Given the description of an element on the screen output the (x, y) to click on. 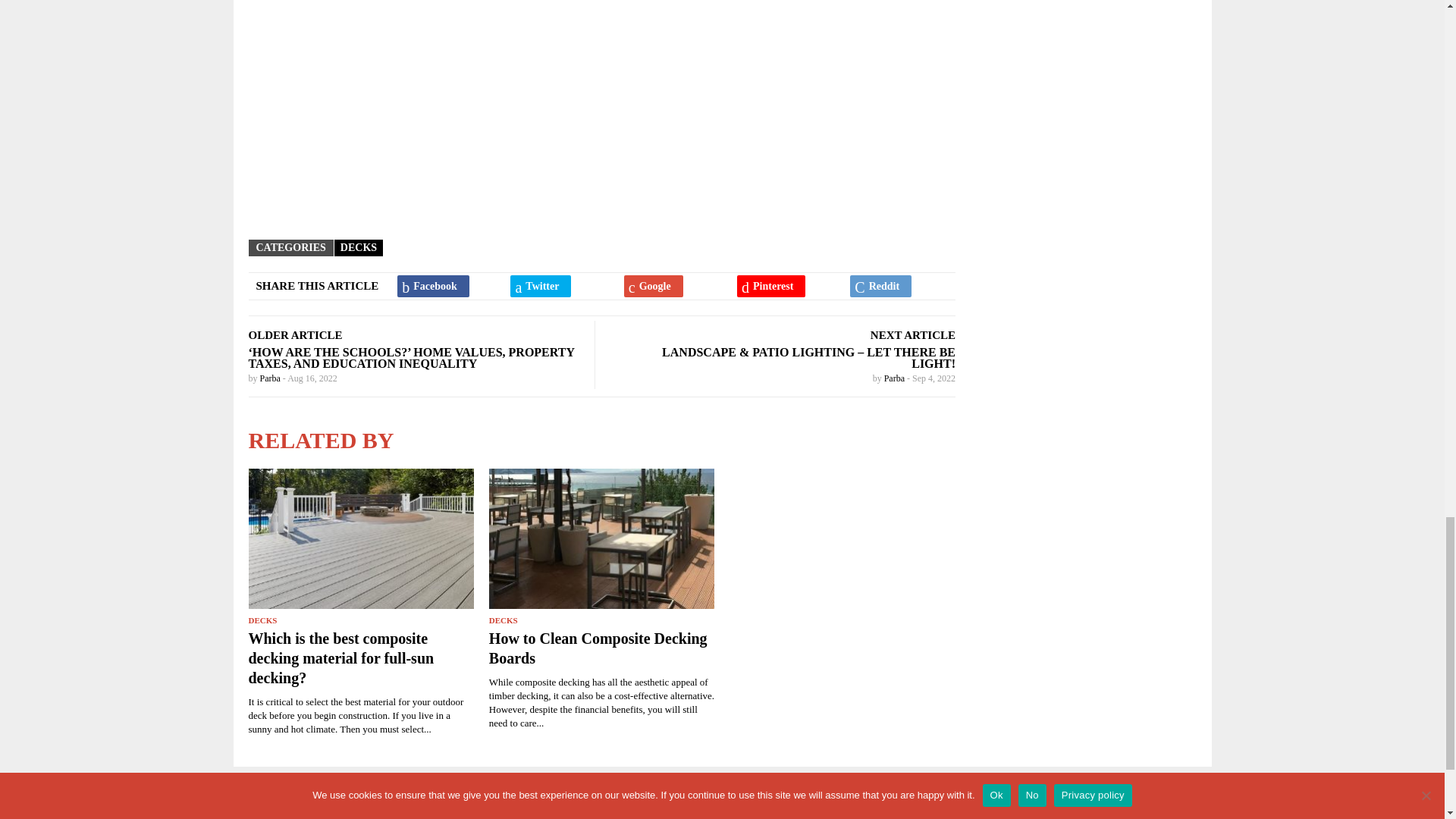
DECKS (358, 247)
OLDER ARTICLE (295, 335)
NEXT ARTICLE (912, 335)
Parba (270, 378)
